Given the description of an element on the screen output the (x, y) to click on. 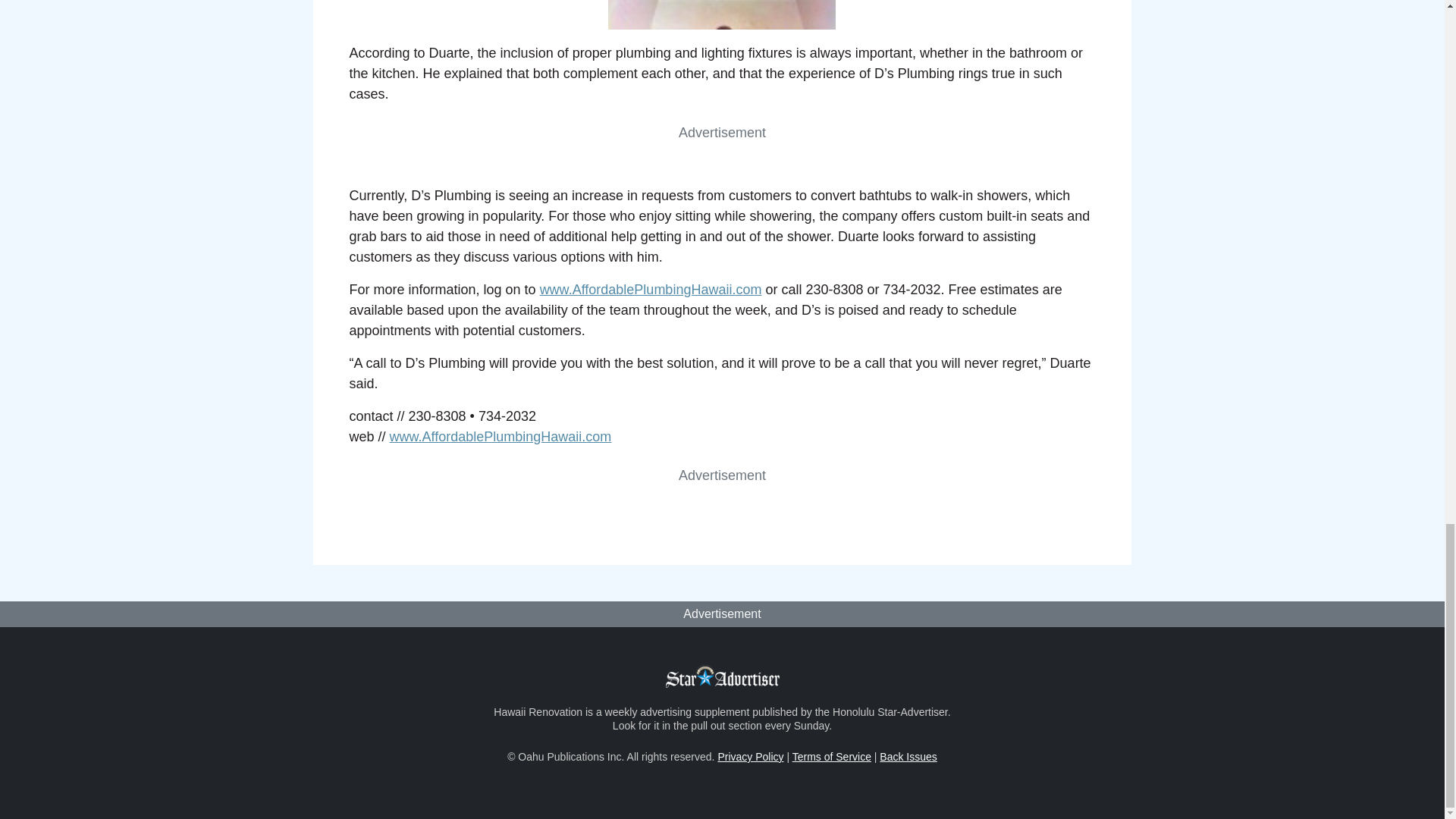
Privacy Policy (750, 756)
www.AffordablePlumbingHawaii.com (650, 289)
www.AffordablePlumbingHawaii.com (500, 436)
